Given the description of an element on the screen output the (x, y) to click on. 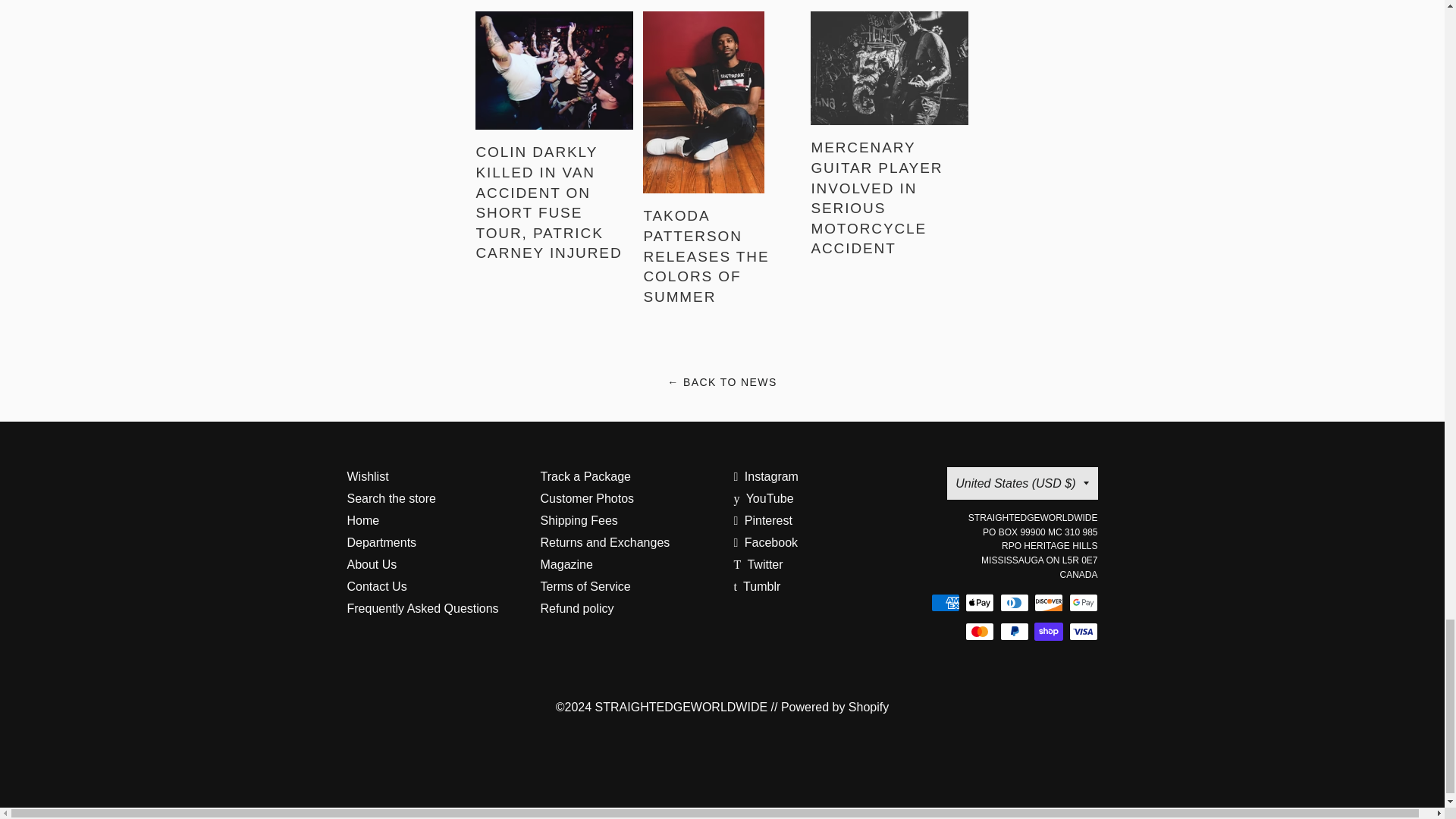
STRAIGHTEDGEWORLDWIDE on Pinterest (762, 520)
PayPal (1012, 631)
Visa (1082, 631)
Mastercard (979, 631)
STRAIGHTEDGEWORLDWIDE on Tumblr (756, 585)
STRAIGHTEDGEWORLDWIDE on Instagram (765, 476)
Discover (1047, 602)
STRAIGHTEDGEWORLDWIDE on Twitter (758, 563)
Google Pay (1082, 602)
STRAIGHTEDGEWORLDWIDE on Facebook (765, 542)
